Given the description of an element on the screen output the (x, y) to click on. 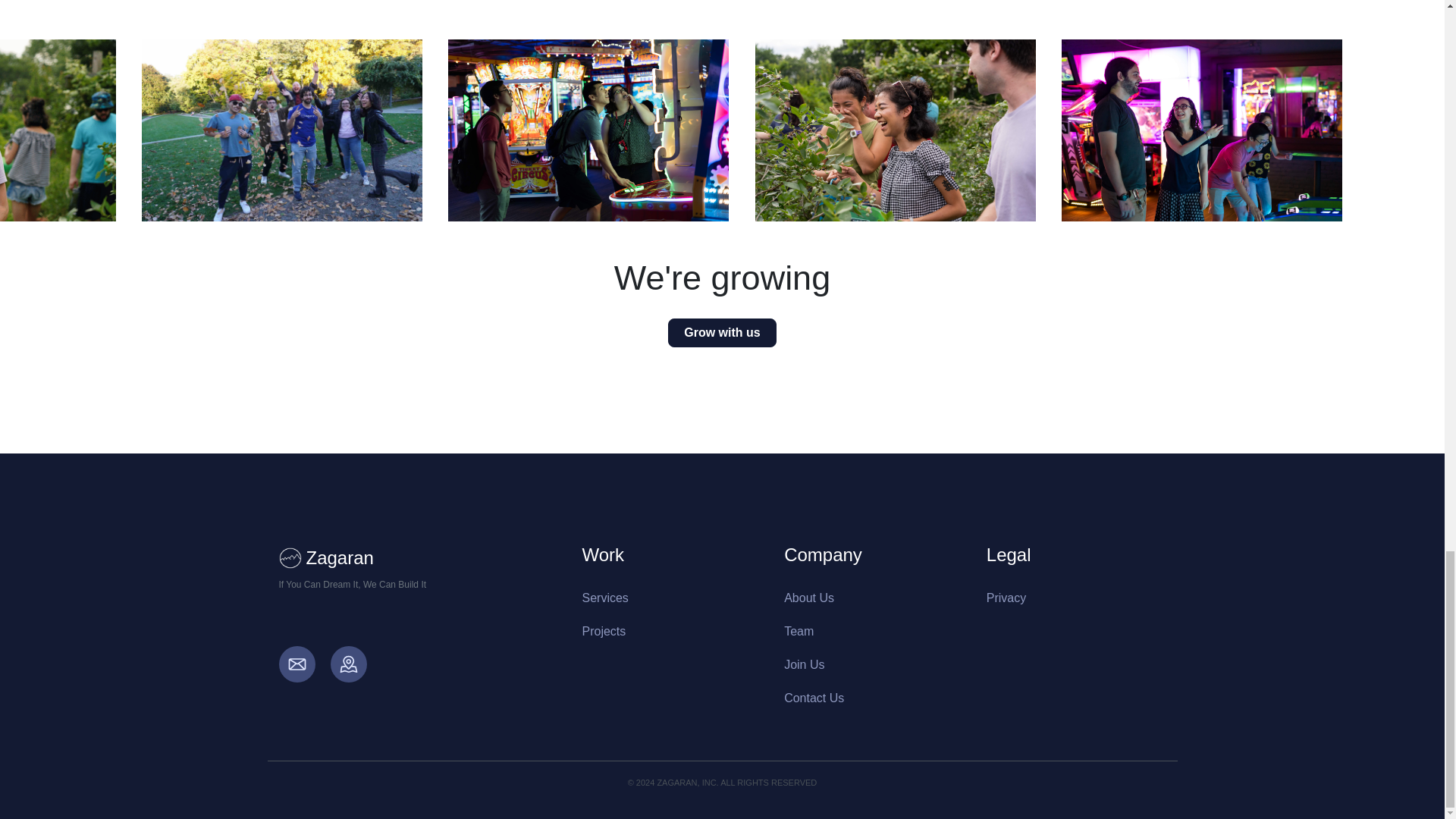
Grow with us (722, 332)
Join Us (804, 664)
Zagaran (419, 557)
Projects (604, 631)
Team (798, 631)
Services (605, 597)
Privacy (1006, 597)
About Us (809, 597)
Contact Us (814, 697)
